Given the description of an element on the screen output the (x, y) to click on. 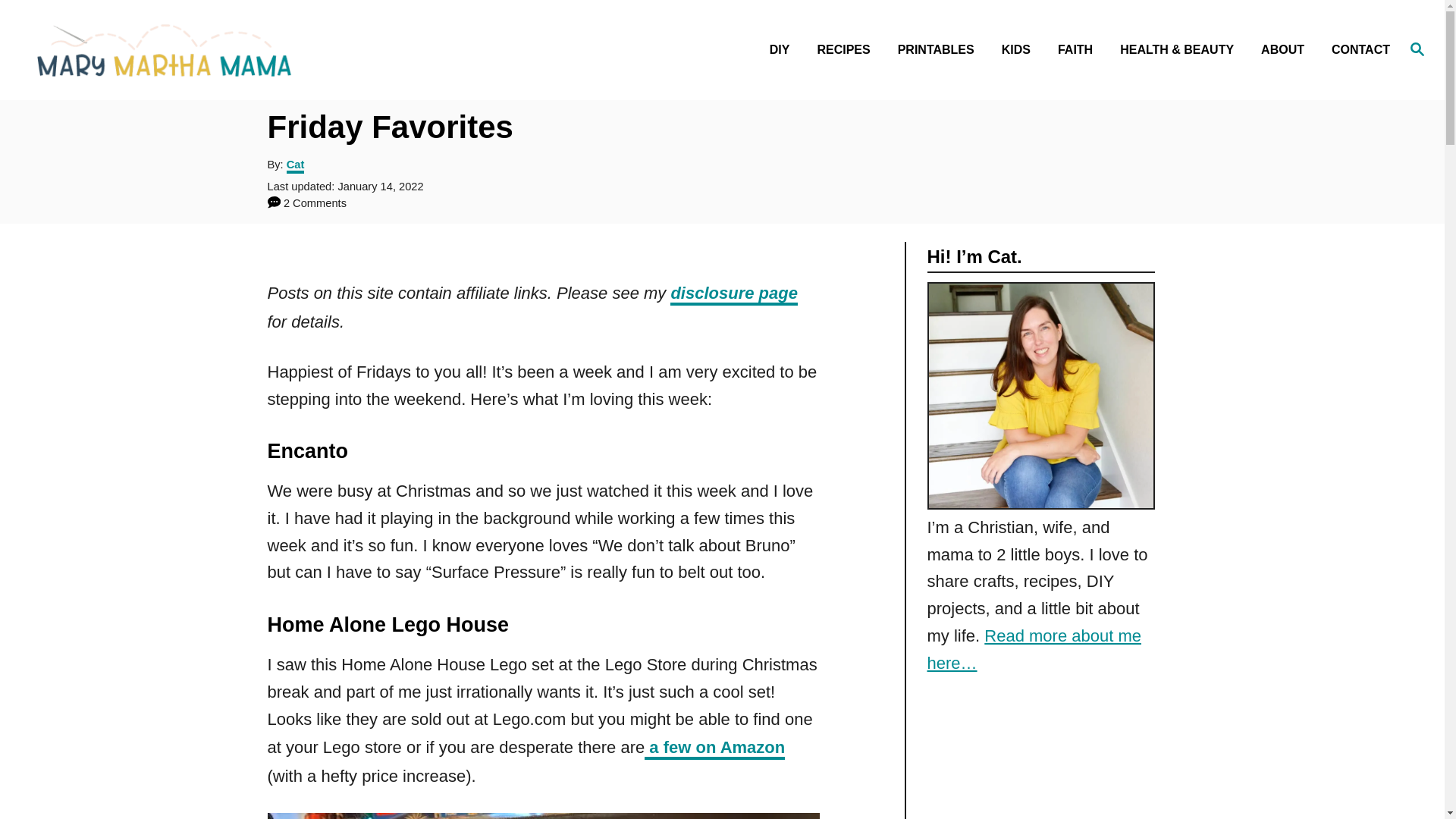
KIDS (1020, 49)
disclosure page (733, 294)
FAITH (1079, 49)
Cat (295, 165)
ABOUT (1287, 49)
a few on Amazon (714, 748)
Mary Martha Mama (204, 49)
Magnifying Glass (1416, 48)
PRINTABLES (940, 49)
DIY (784, 49)
